Given the description of an element on the screen output the (x, y) to click on. 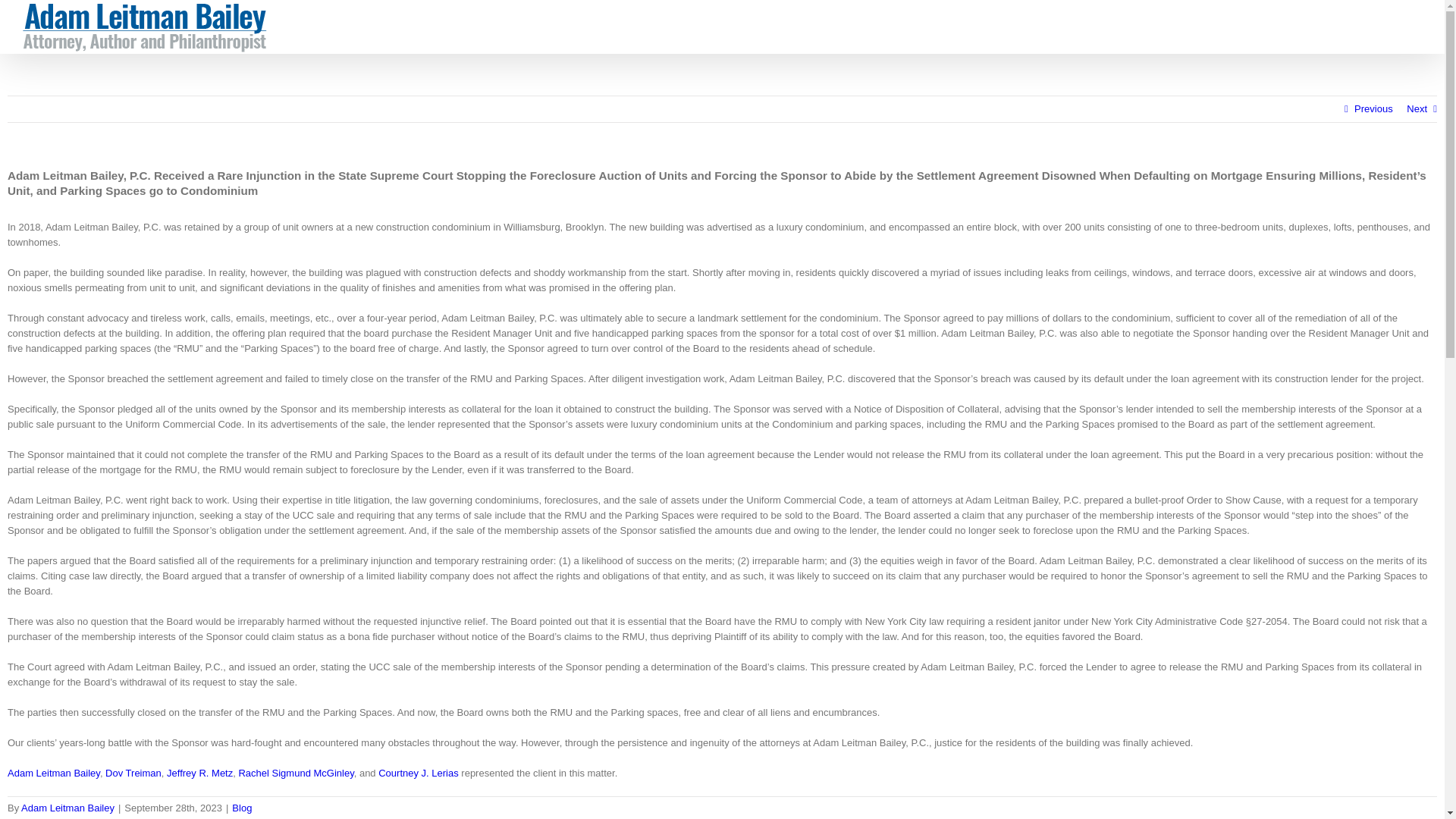
Rachel Sigmund McGinley (295, 772)
Previous (1373, 109)
Dov Treiman (132, 772)
Jeffrey R. Metz (199, 772)
Blog (241, 808)
Posts by Adam Leitman Bailey (68, 808)
Adam Leitman Bailey (53, 772)
Adam Leitman Bailey (68, 808)
Courtney J. Lerias (418, 772)
